Given the description of an element on the screen output the (x, y) to click on. 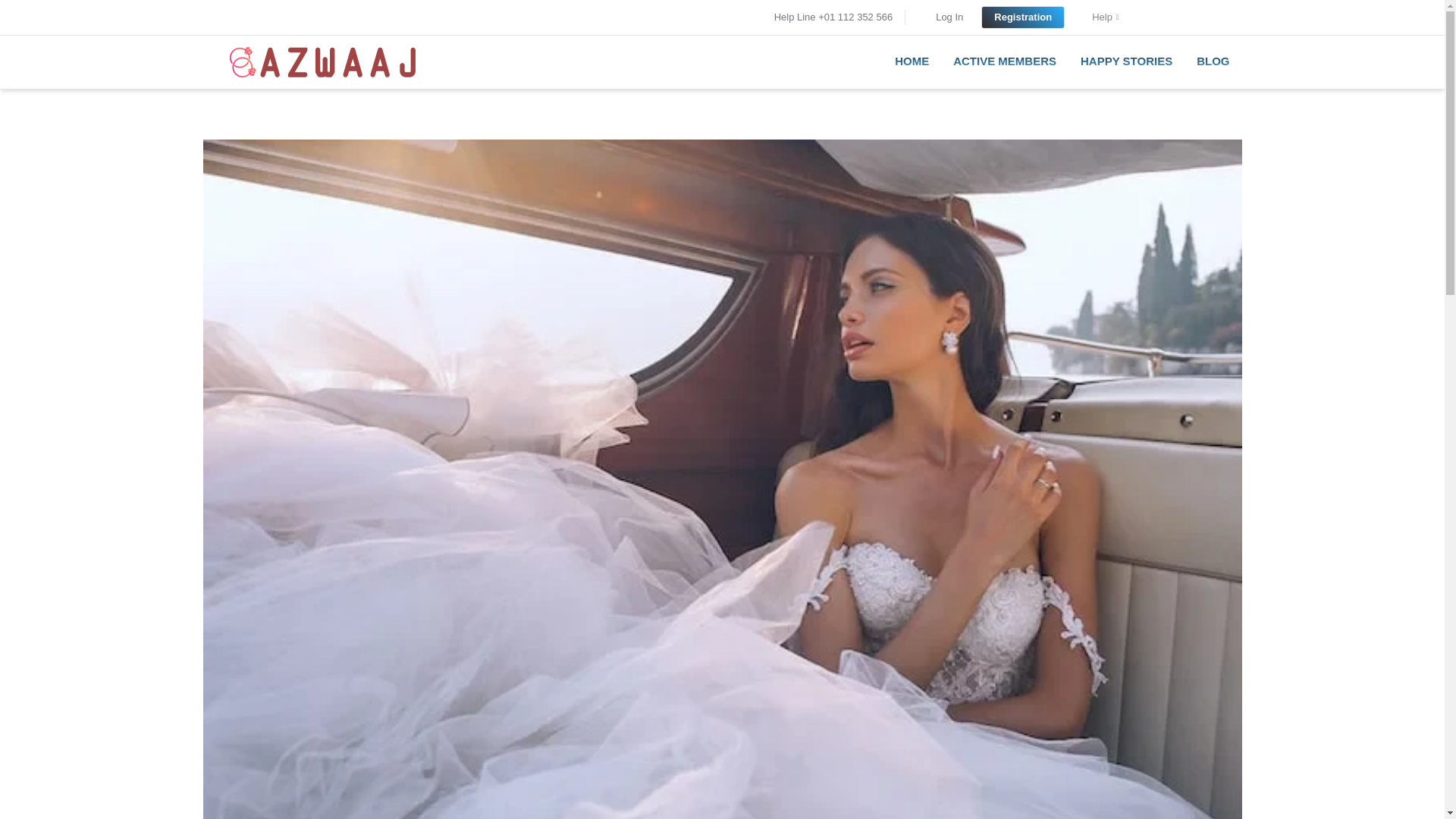
ACTIVE MEMBERS (1004, 60)
Log In (949, 16)
HOME (911, 60)
HAPPY STORIES (1126, 60)
Help (1104, 17)
BLOG (1213, 60)
Registration (1022, 16)
